Given the description of an element on the screen output the (x, y) to click on. 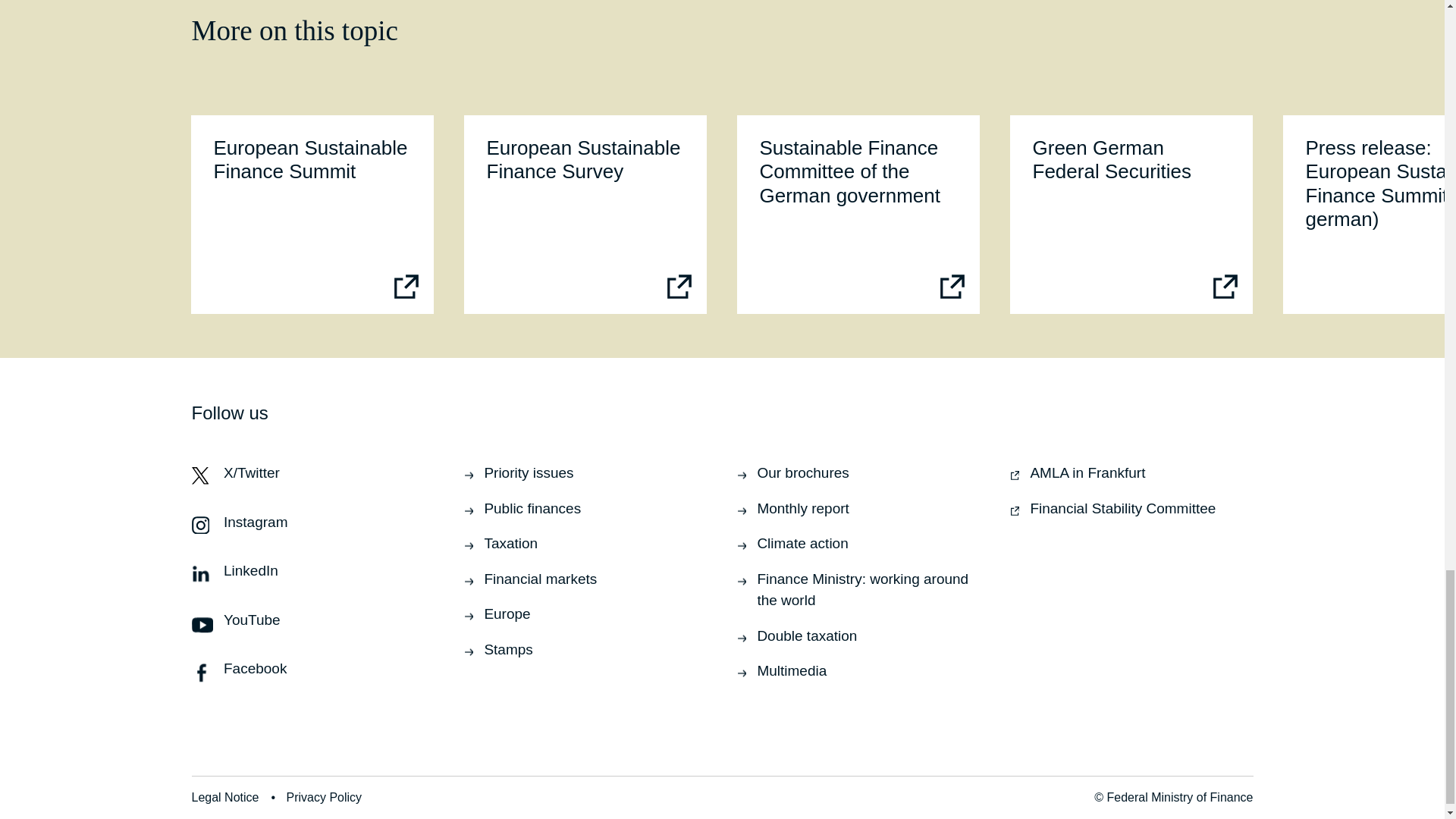
More on this topic (1131, 214)
